Given the description of an element on the screen output the (x, y) to click on. 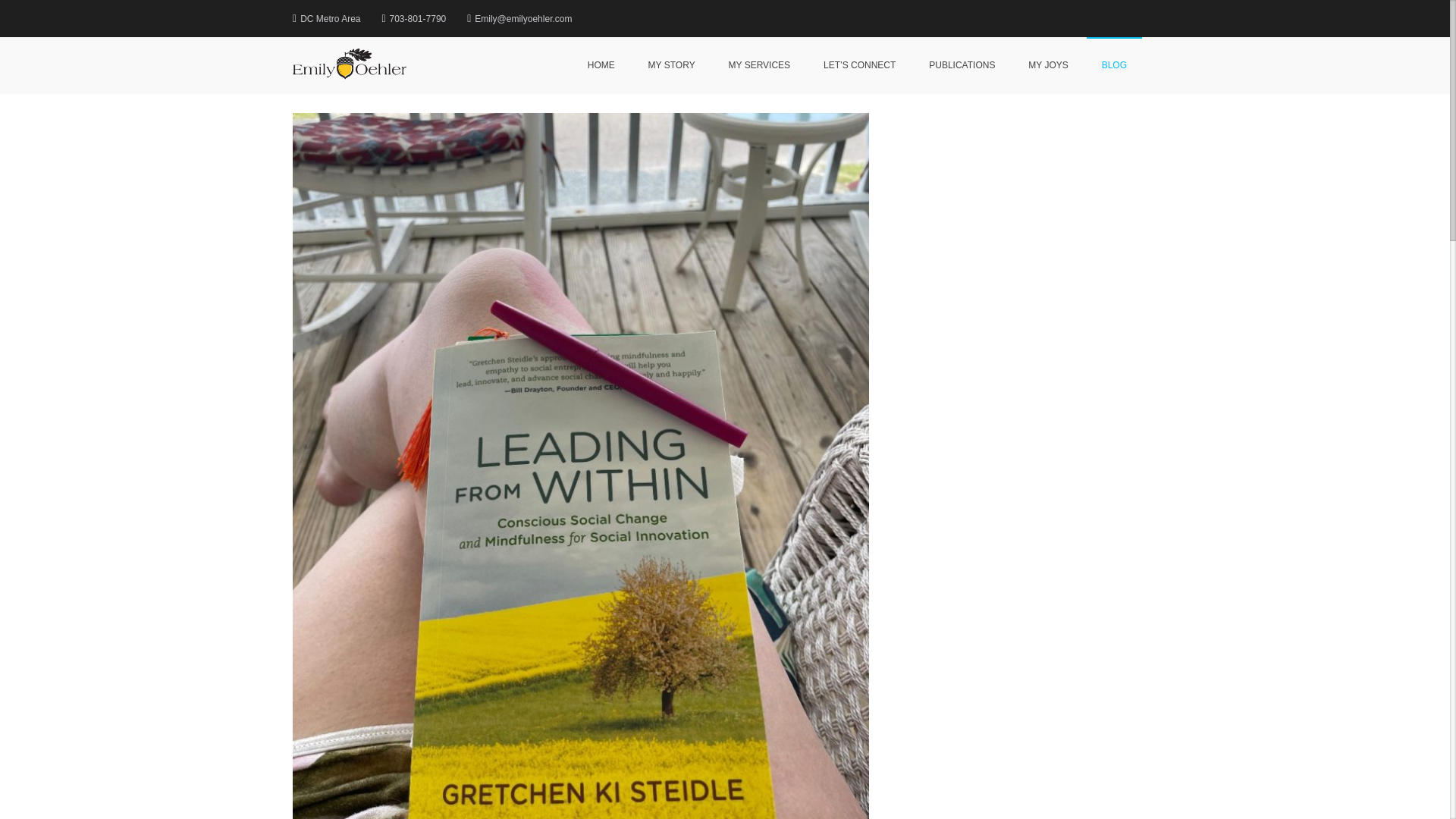
PUBLICATIONS (962, 65)
BLOG (1113, 65)
Golden Acorns (463, 74)
MY JOYS (1048, 65)
HOME (601, 65)
MY SERVICES (759, 65)
MY STORY (671, 65)
